Given the description of an element on the screen output the (x, y) to click on. 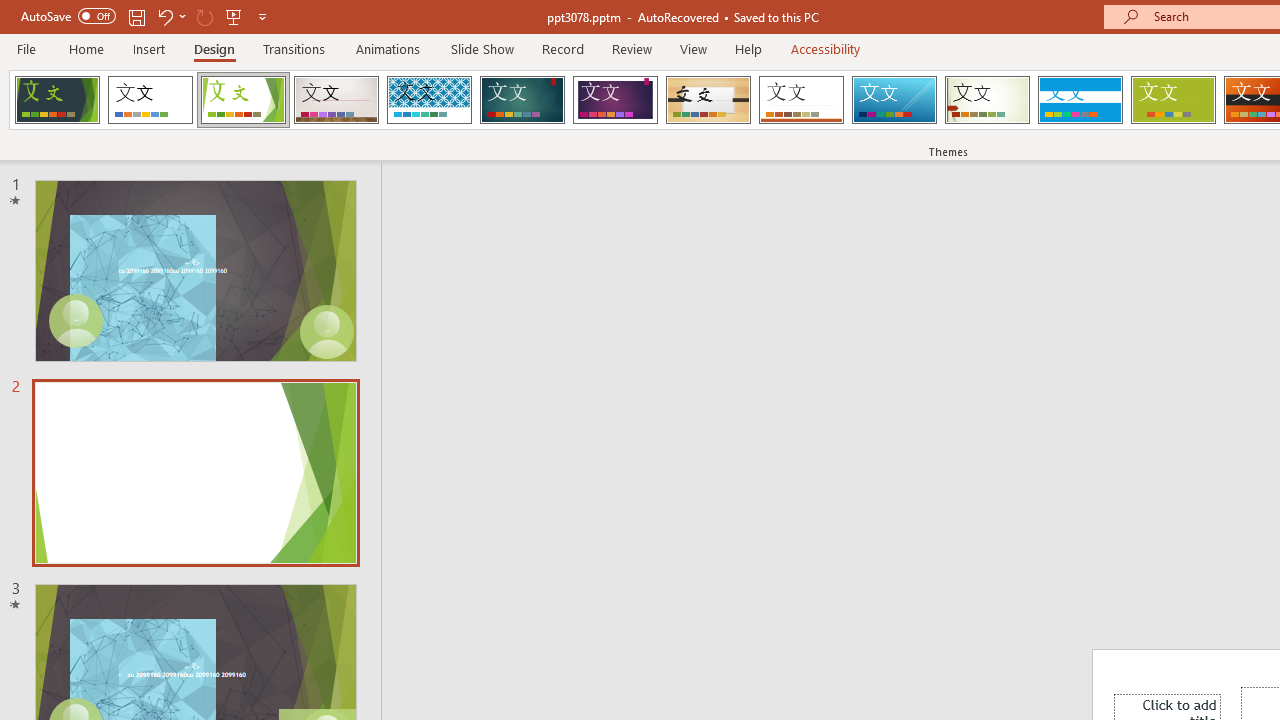
Basis (1172, 100)
Slice (893, 100)
